Given the description of an element on the screen output the (x, y) to click on. 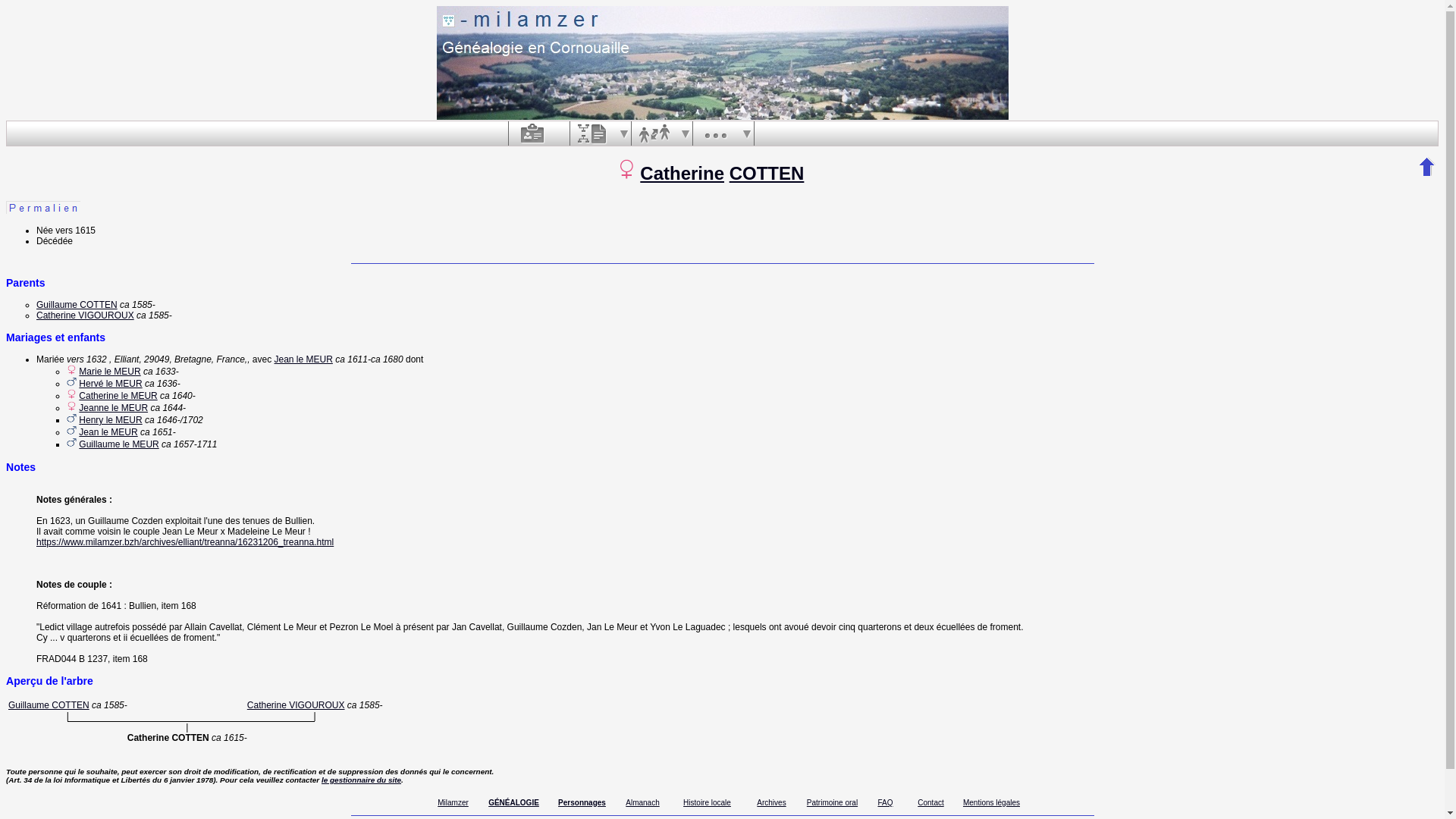
<hr (980 px)> Element type: hover (721, 815)
Clic droit pour 'copier l'adresse du lien' Element type: hover (43, 206)
Marie le MEUR Element type: text (109, 371)
Patrimoine oral Element type: text (831, 802)
le gestionnaire du site Element type: text (361, 779)
<hr (980 px)> Element type: hover (721, 263)
Catherine VIGOUROUX Element type: text (296, 704)
Jeanne le MEUR Element type: text (112, 407)
Accueil Element type: hover (722, 62)
Guillaume COTTEN Element type: text (76, 304)
Guillaume le MEUR Element type: text (118, 444)
Archives Element type: text (770, 802)
Ascendants et descendants Element type: hover (592, 133)
Milamzer Element type: text (452, 802)
Catherine Element type: text (682, 173)
Personnages Element type: text (581, 802)
Divers Element type: hover (715, 133)
Jean le MEUR Element type: text (107, 431)
FAQ Element type: text (884, 802)
Catherine le MEUR Element type: text (117, 395)
Henry le MEUR Element type: text (109, 419)
Personne Element type: hover (531, 133)
Guillaume COTTEN Element type: text (48, 704)
Catherine VIGOUROUX Element type: text (85, 315)
^^ Element type: hover (1427, 167)
Jean le MEUR Element type: text (303, 359)
Contact Element type: text (930, 802)
Histoire locale Element type: text (707, 802)
Almanach Element type: text (641, 802)
COTTEN Element type: text (766, 173)
